Given the description of an element on the screen output the (x, y) to click on. 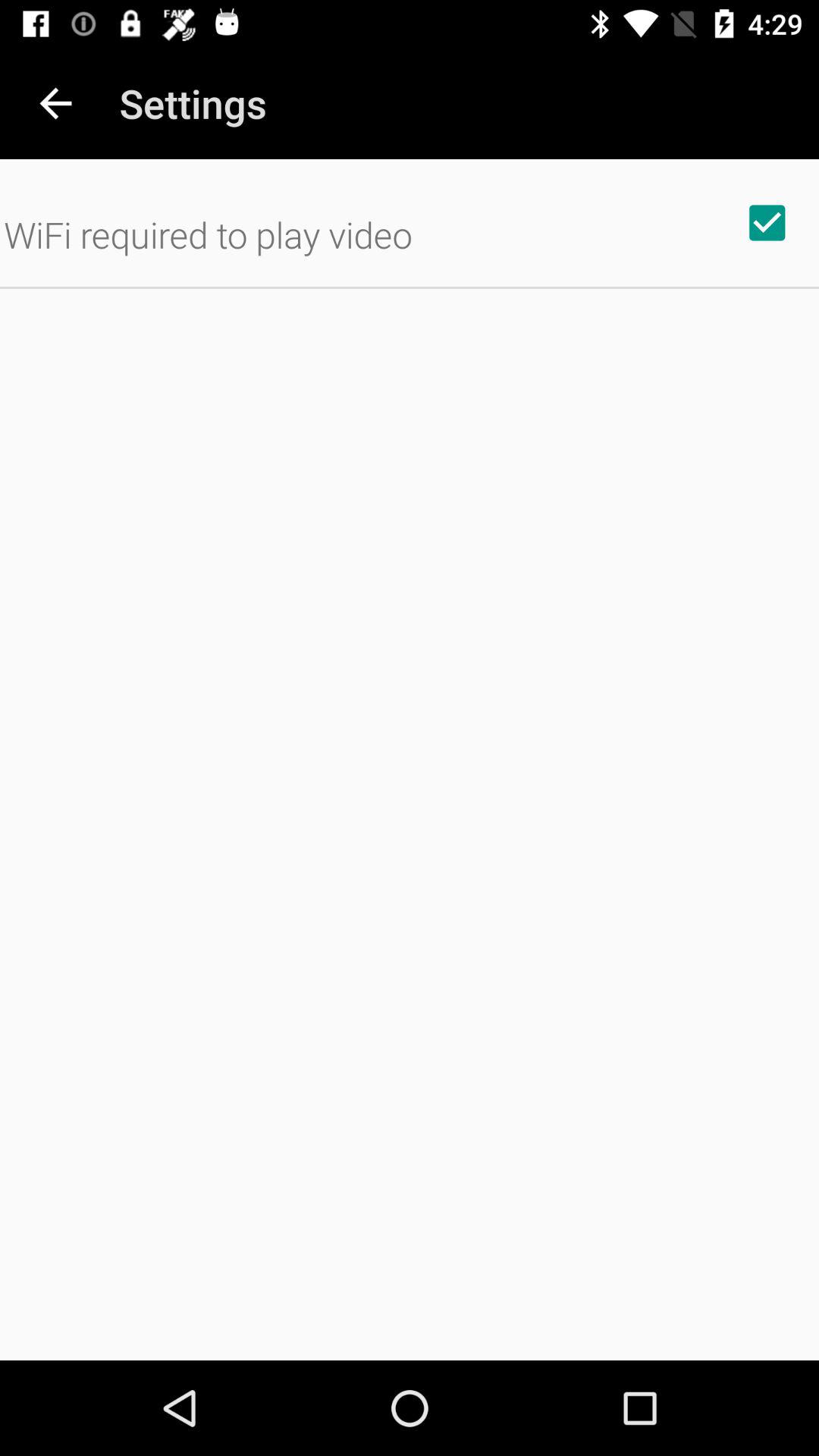
go back (55, 103)
